Given the description of an element on the screen output the (x, y) to click on. 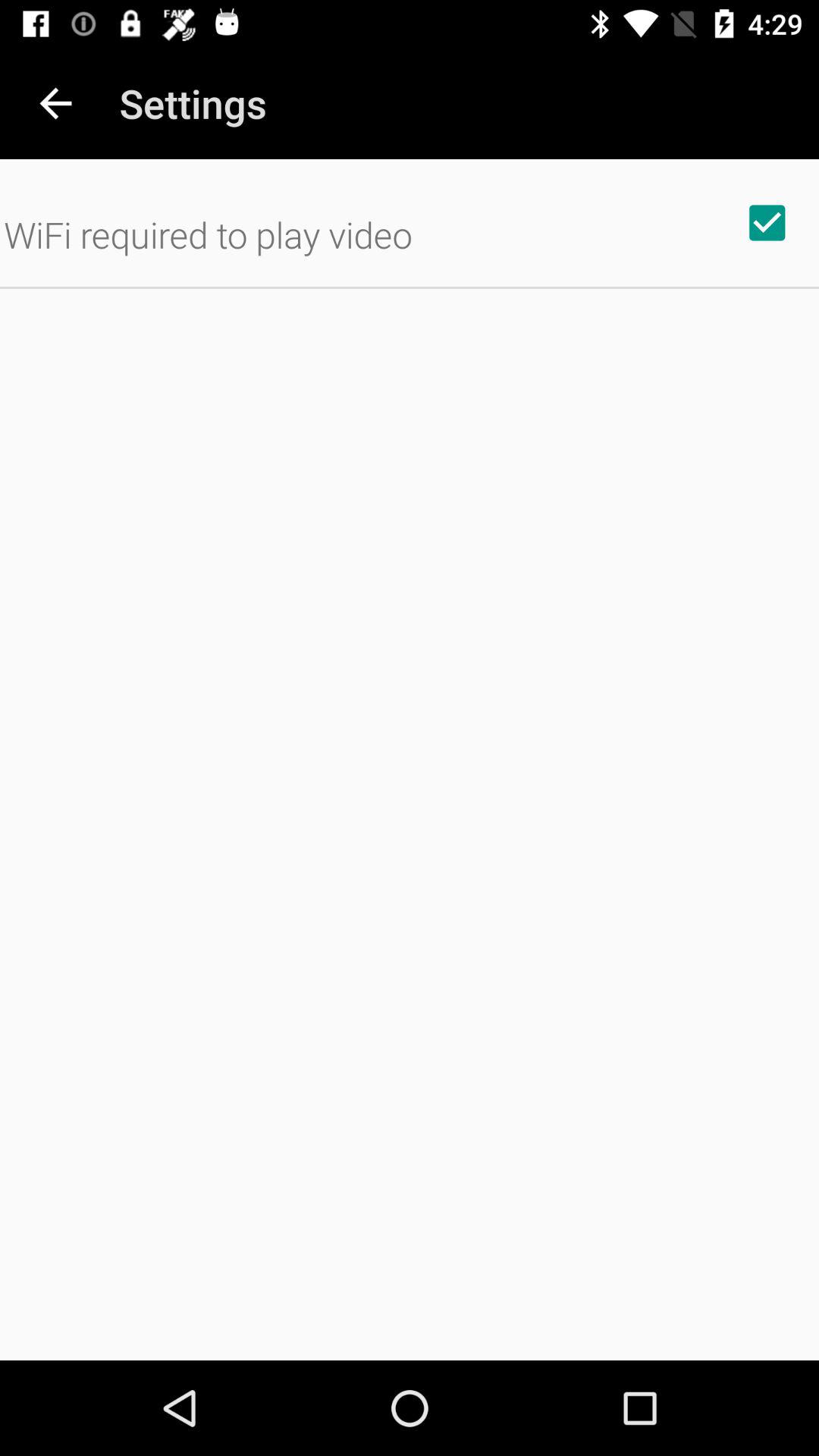
go back (55, 103)
